Given the description of an element on the screen output the (x, y) to click on. 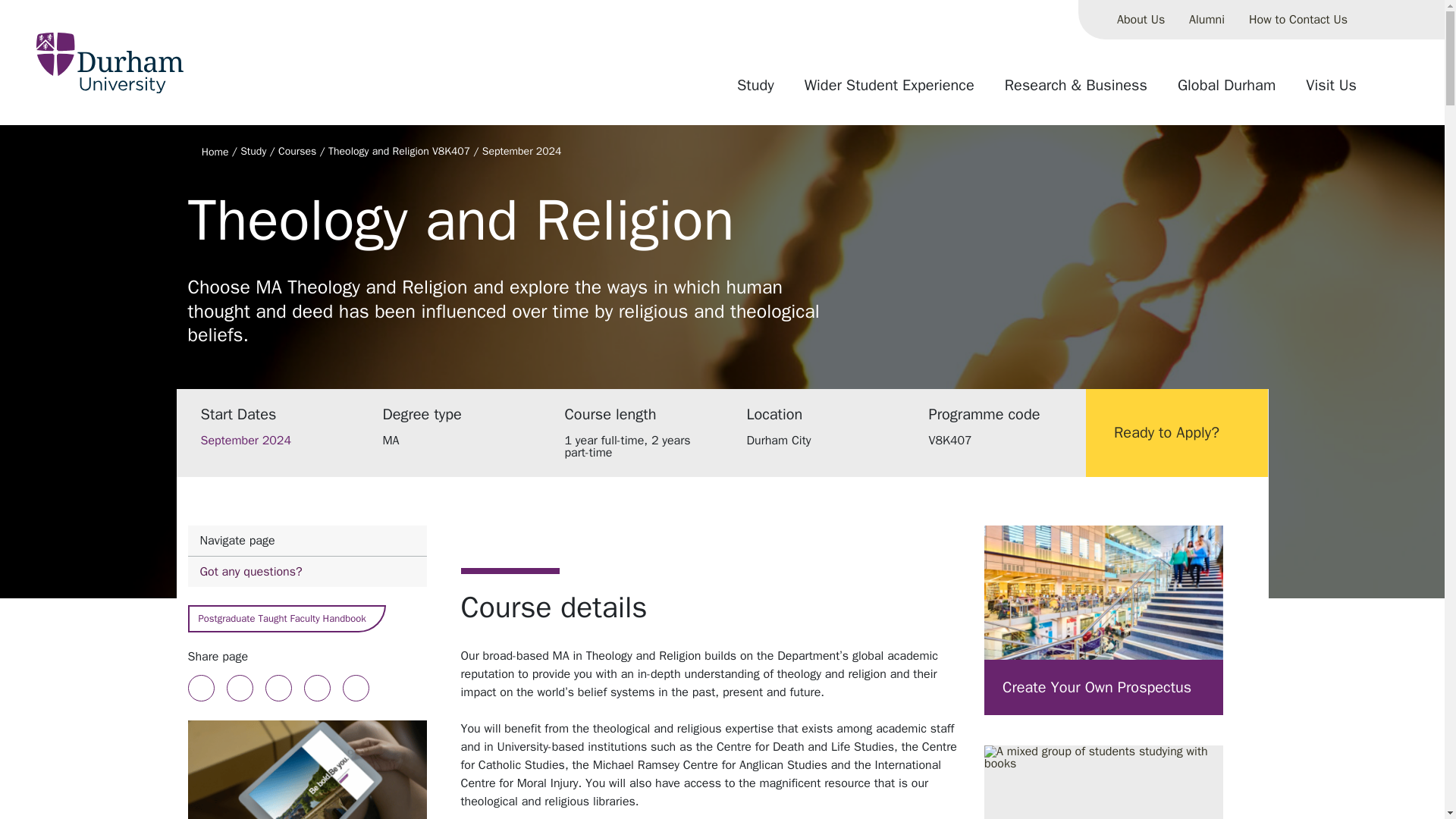
Visit Us (1331, 91)
About Us (1140, 19)
Got any questions? (306, 571)
How to Contact Us (1297, 19)
Wider Student Experience (889, 91)
Study (306, 556)
Alumni (755, 91)
Skip to main content (1206, 19)
